Given the description of an element on the screen output the (x, y) to click on. 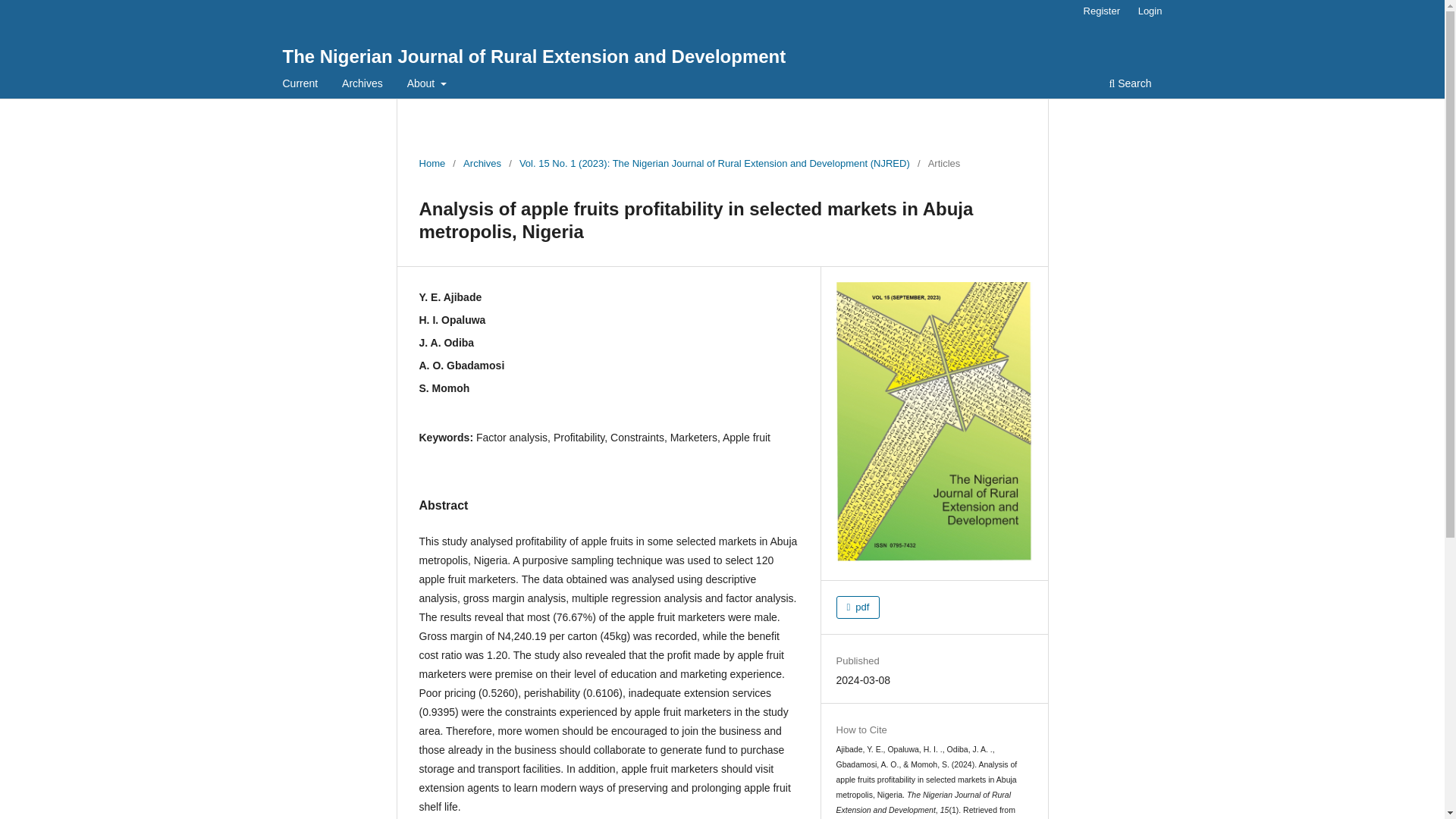
Archives (362, 85)
The Nigerian Journal of Rural Extension and Development (534, 56)
pdf (857, 607)
Register (1100, 11)
Archives (481, 163)
Home (432, 163)
About (426, 85)
Current (300, 85)
Login (1150, 11)
Search (1129, 85)
